Given the description of an element on the screen output the (x, y) to click on. 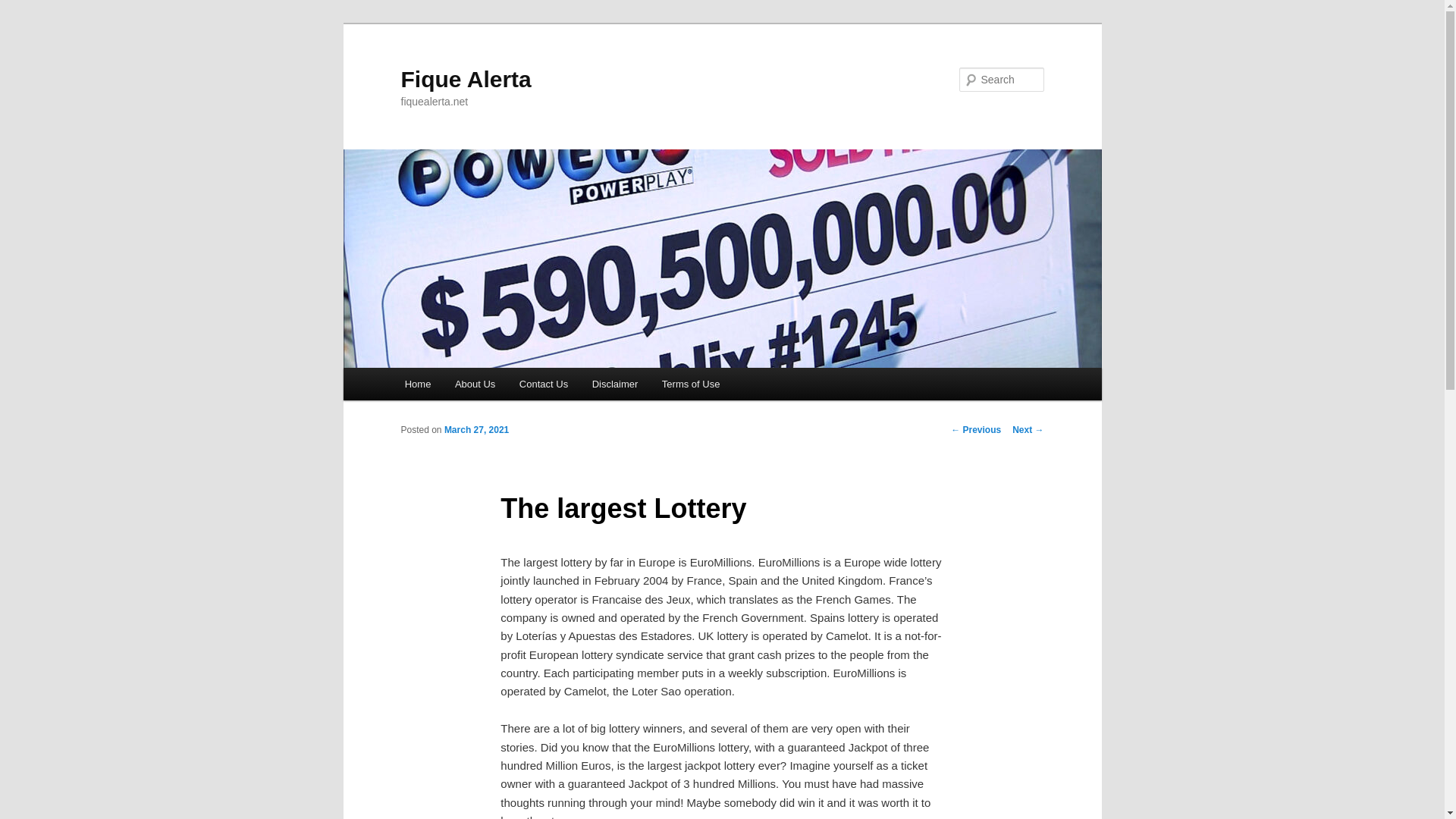
2:50 pm (476, 429)
About Us (474, 383)
March 27, 2021 (476, 429)
Fique Alerta (465, 78)
Home (417, 383)
Disclaimer (614, 383)
Search (24, 8)
Terms of Use (690, 383)
Contact Us (542, 383)
